Given the description of an element on the screen output the (x, y) to click on. 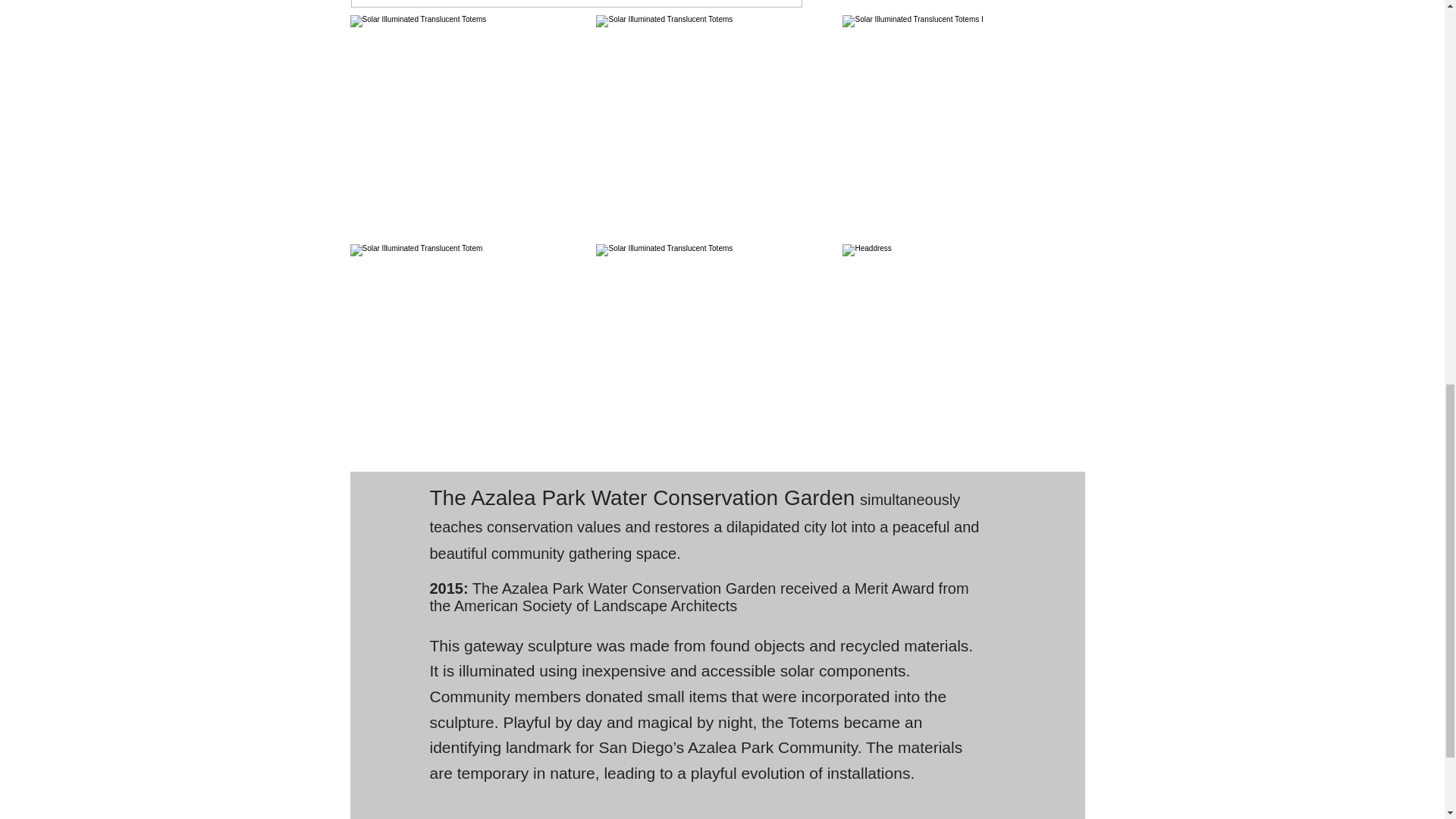
Totem front view twilight cropped.jpg (576, 3)
